Given the description of an element on the screen output the (x, y) to click on. 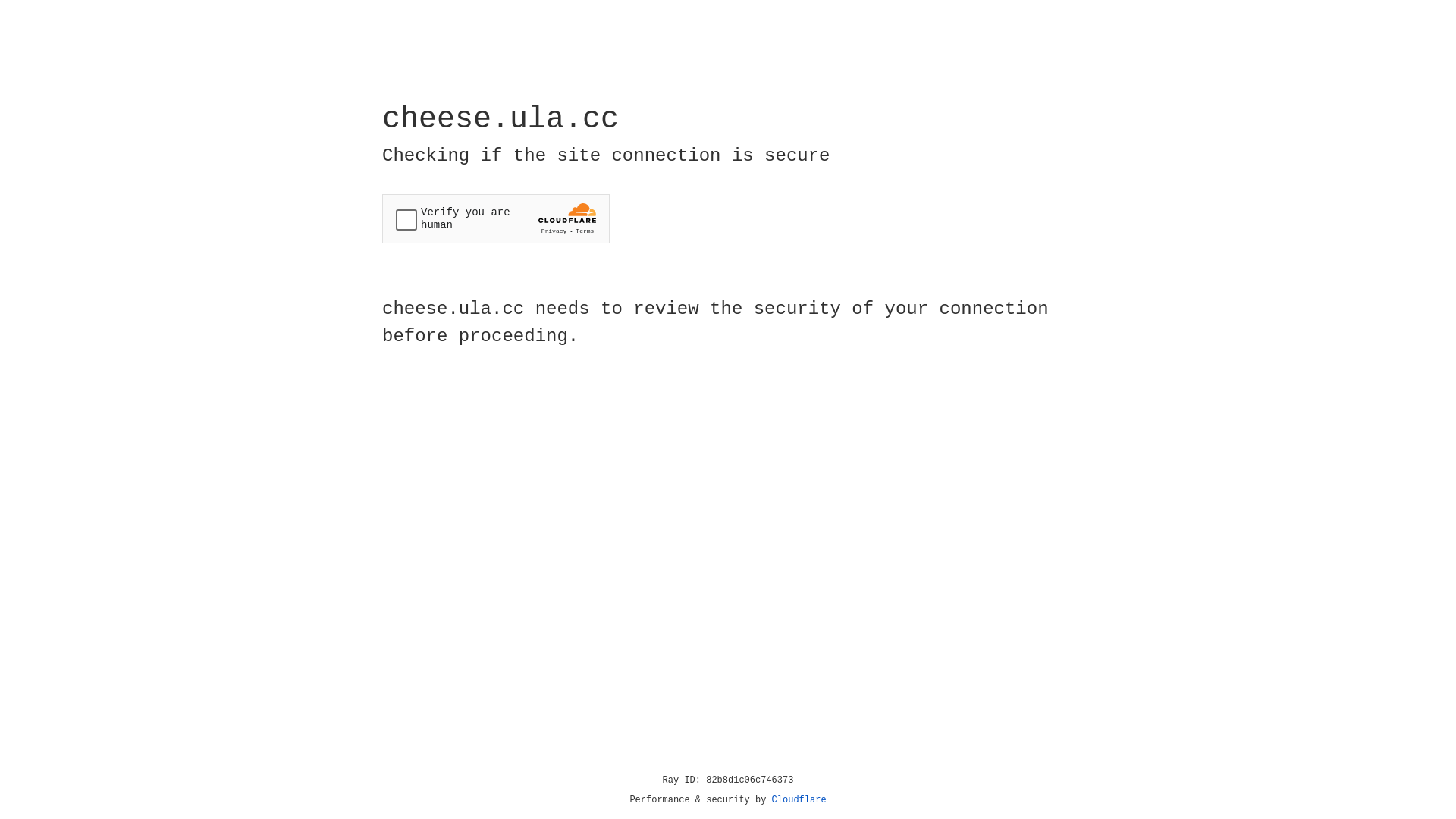
Cloudflare Element type: text (798, 799)
Widget containing a Cloudflare security challenge Element type: hover (495, 218)
